Given the description of an element on the screen output the (x, y) to click on. 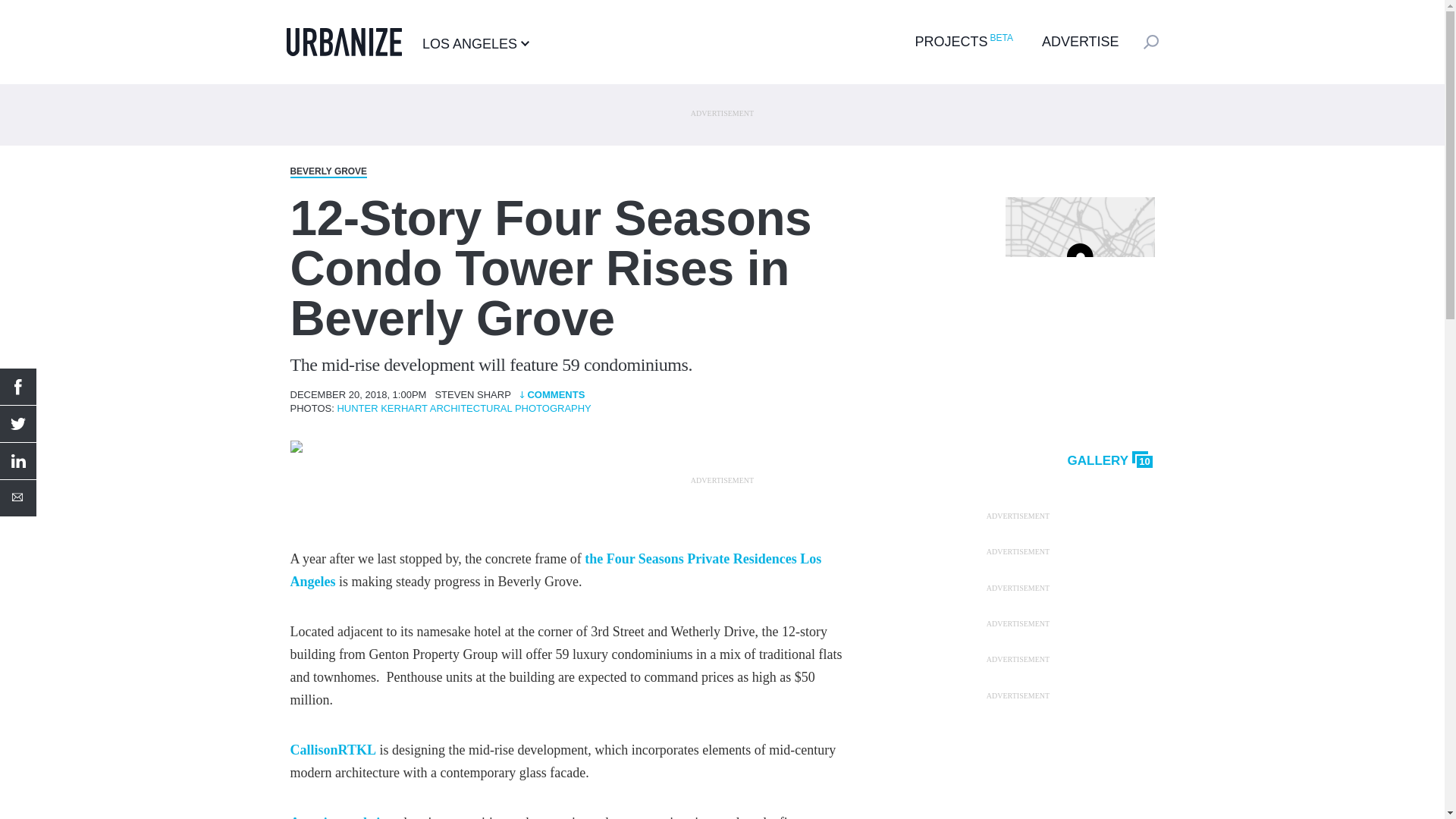
PROJECTSBETA (962, 41)
Share by Twitter (18, 423)
LOS ANGELES (475, 43)
Share by LinkedIn (18, 461)
Share by email (18, 497)
ADVERTISE (1080, 41)
Share by Facebook (18, 386)
